Given the description of an element on the screen output the (x, y) to click on. 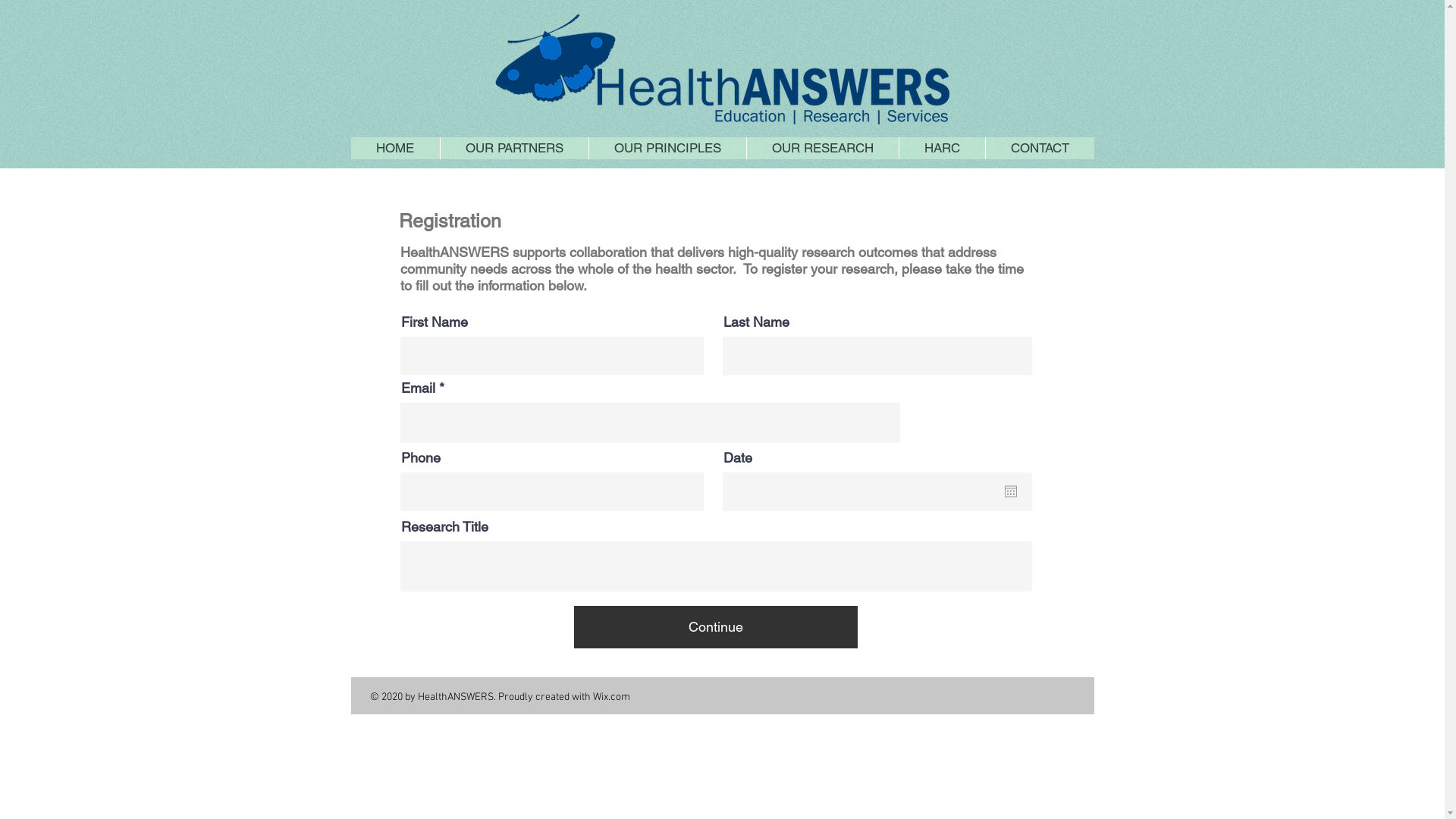
OUR RESEARCH Element type: text (822, 148)
OUR PARTNERS Element type: text (513, 148)
HOME Element type: text (394, 148)
CONTACT Element type: text (1038, 148)
OUR PRINCIPLES Element type: text (667, 148)
Continue Element type: text (714, 626)
HARC Element type: text (940, 148)
Wix.com Element type: text (611, 696)
